Given the description of an element on the screen output the (x, y) to click on. 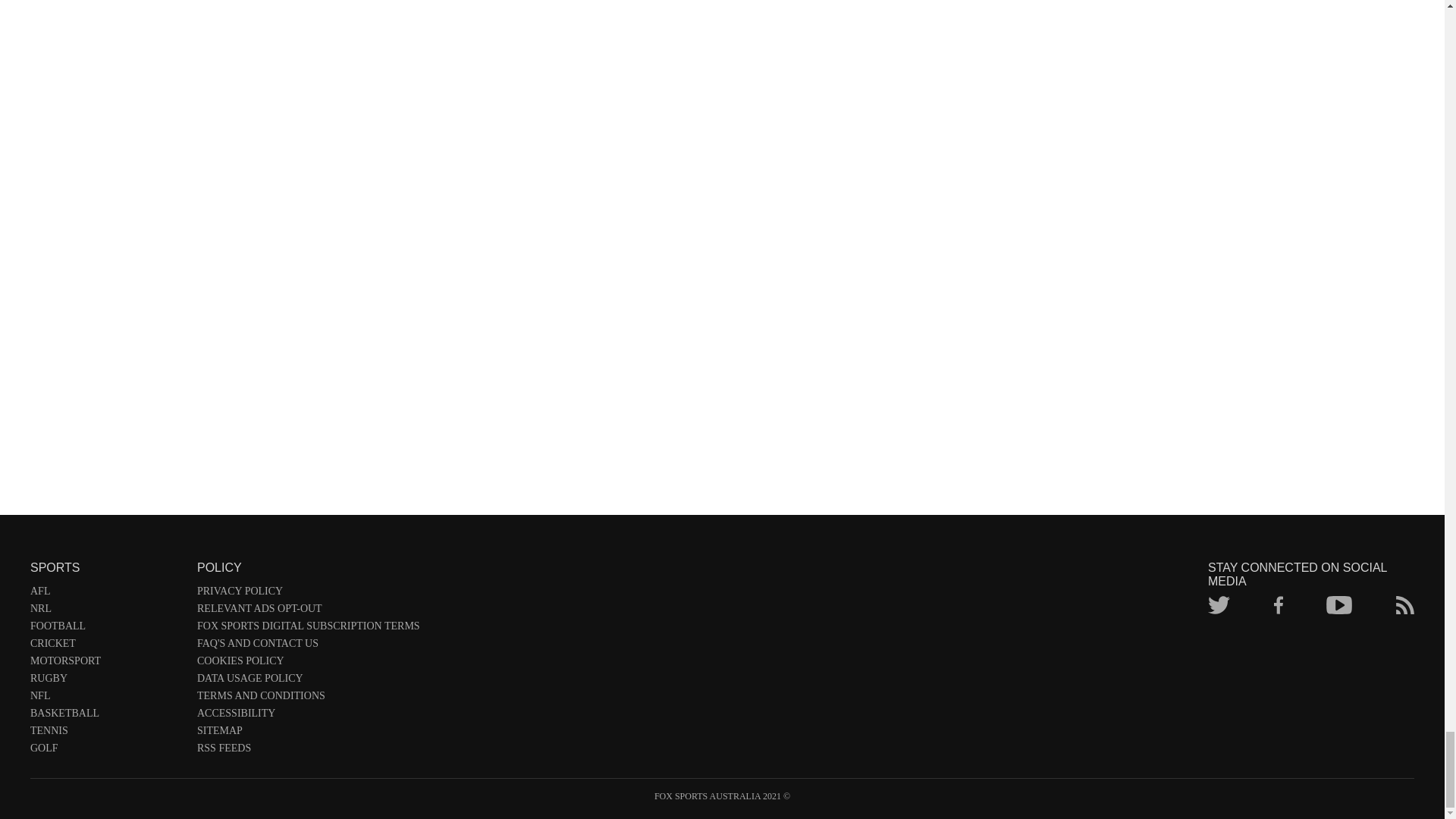
TENNIS (106, 733)
RELEVANT ADS OPT-OUT (308, 610)
FOOTBALL (106, 628)
TERMS AND CONDITIONS (308, 698)
AFL (106, 593)
FAQ'S AND CONTACT US (308, 646)
COOKIES POLICY (308, 663)
RSS FEEDS (308, 751)
FOX SPORTS DIGITAL SUBSCRIPTION TERMS (308, 628)
DATA USAGE POLICY (308, 681)
